Given the description of an element on the screen output the (x, y) to click on. 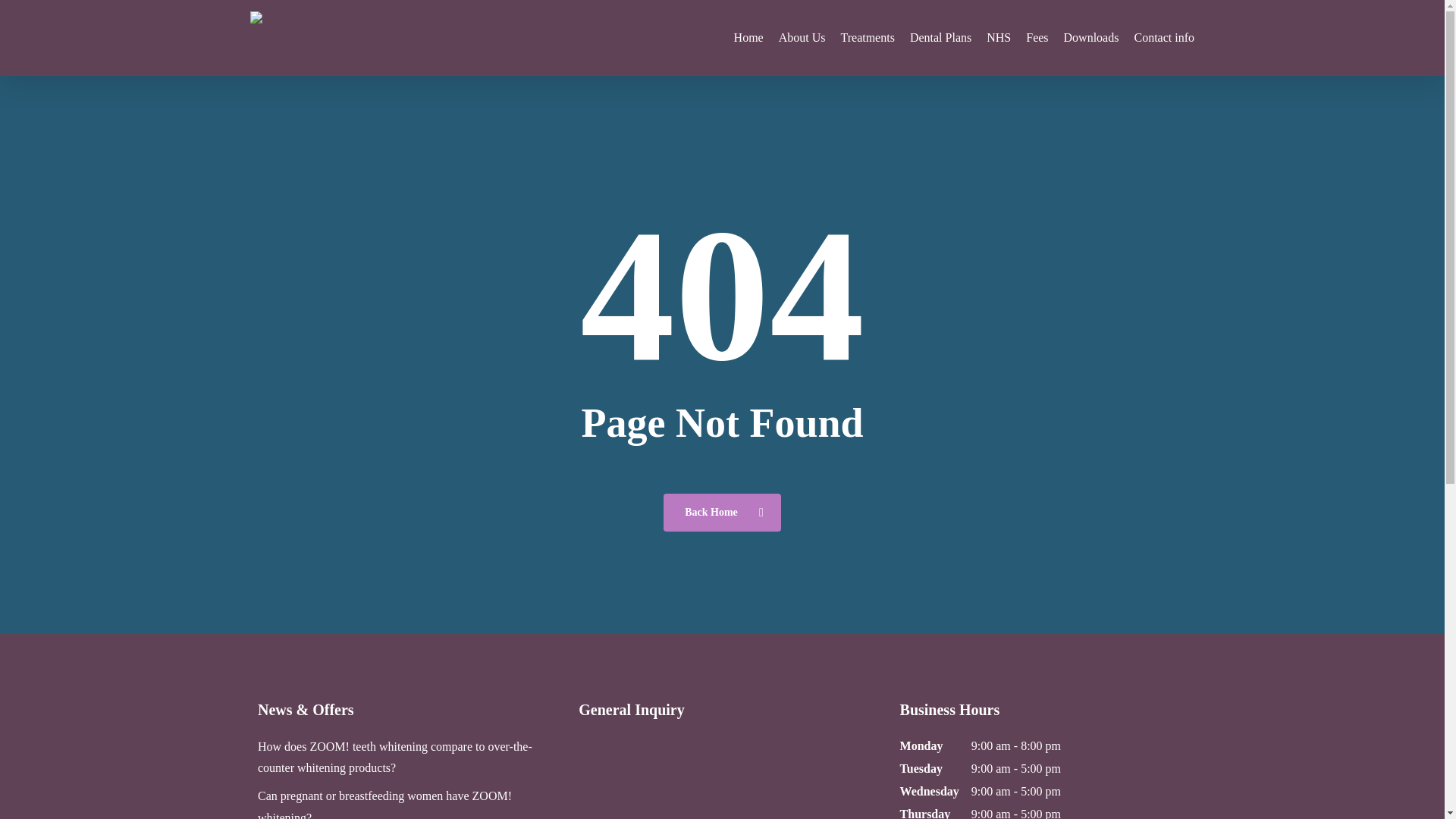
About Us (801, 38)
Dental Plans (940, 38)
Home (747, 38)
Treatments (866, 38)
